Given the description of an element on the screen output the (x, y) to click on. 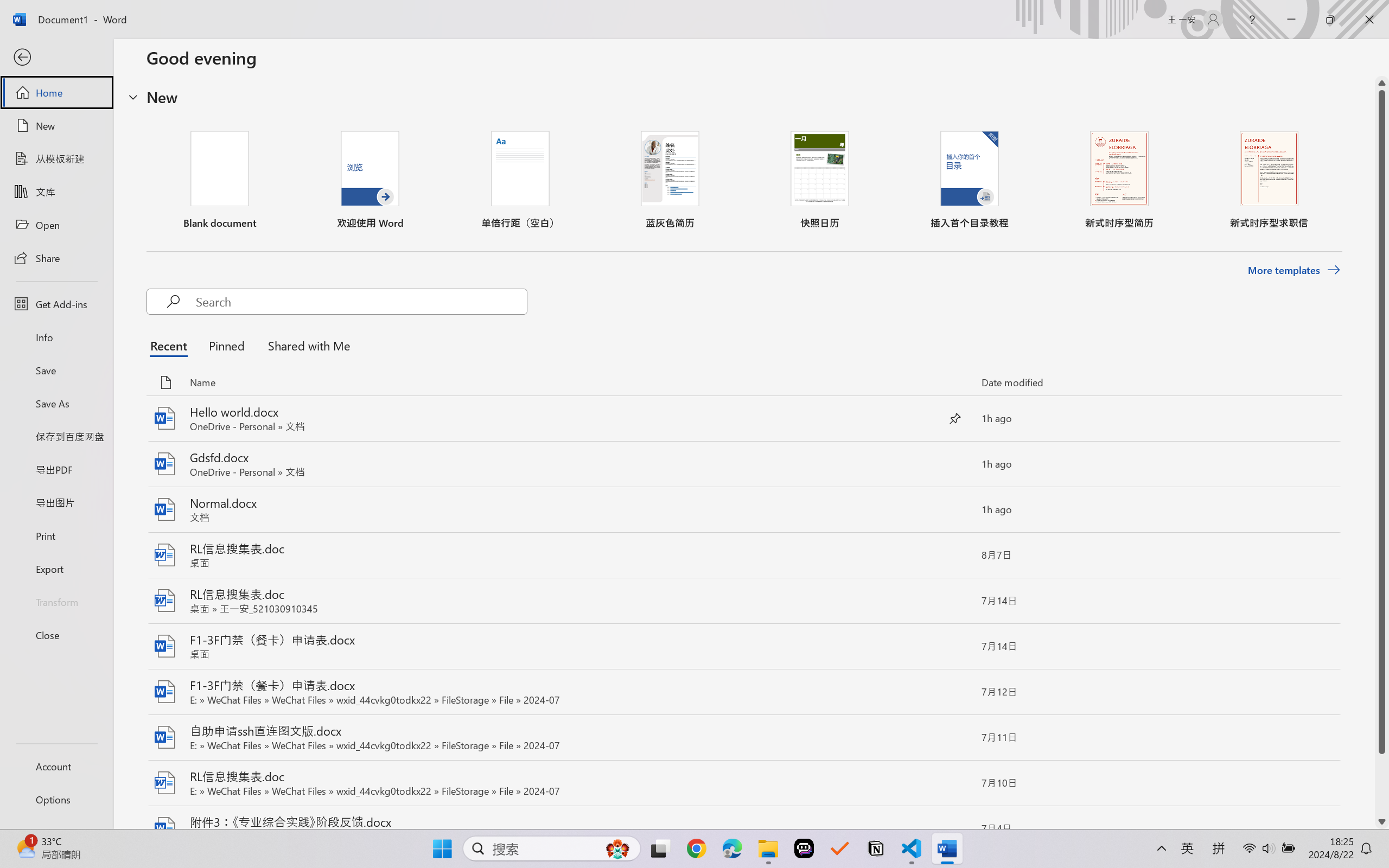
New (56, 125)
Save As (56, 403)
Line up (1382, 83)
Export (56, 568)
Options (56, 798)
Back (56, 57)
Hide or show region (133, 96)
Hello world.docx (743, 418)
